Given the description of an element on the screen output the (x, y) to click on. 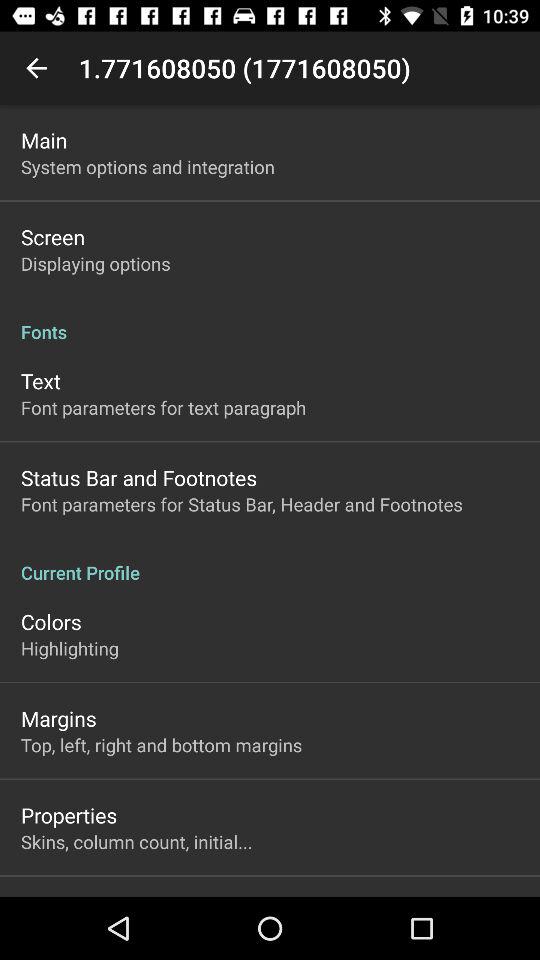
launch fonts app (270, 321)
